Given the description of an element on the screen output the (x, y) to click on. 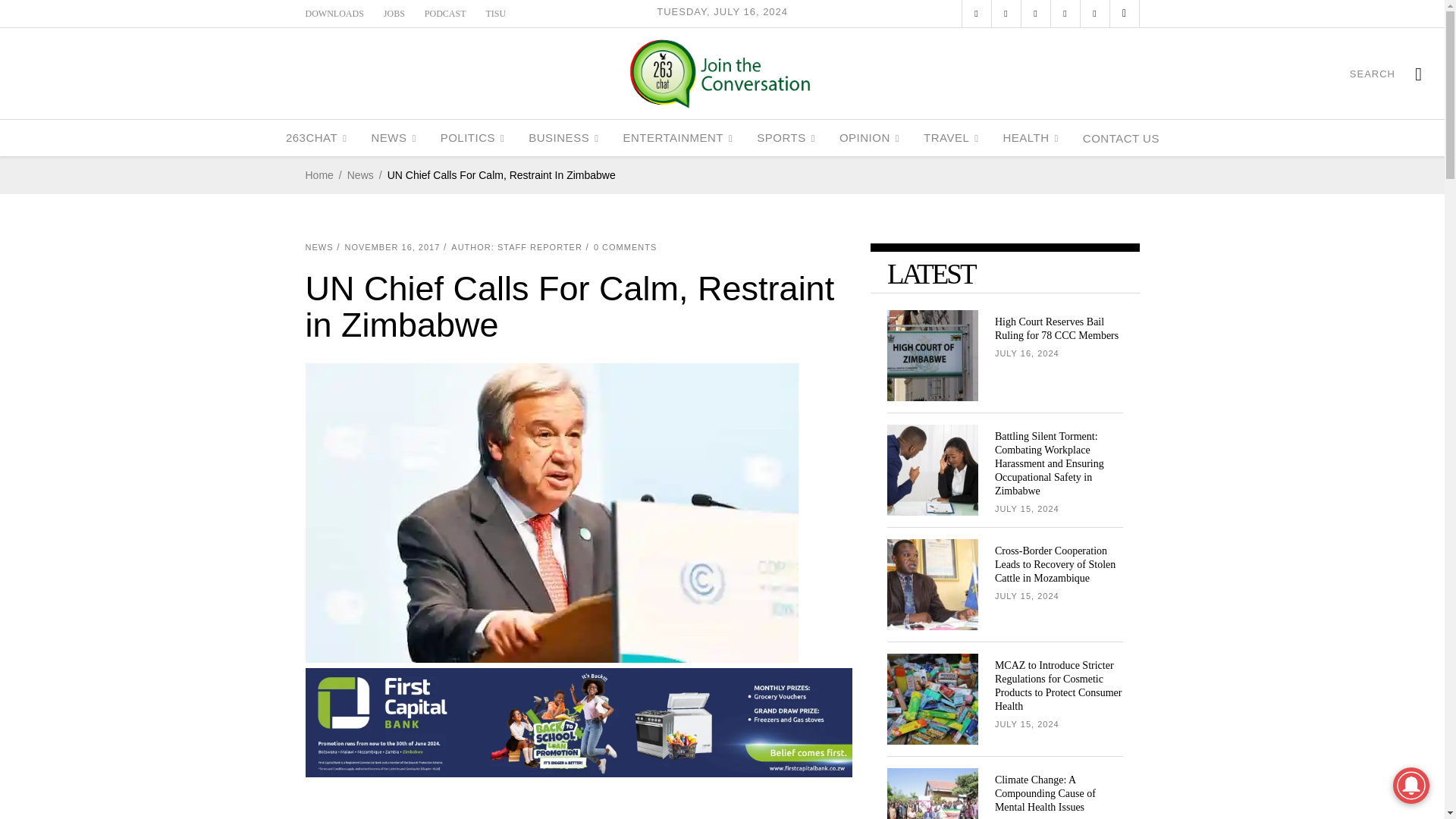
NEWS (393, 137)
DOWNLOADS (333, 13)
263CHAT (316, 137)
PODCAST (445, 13)
JOBS (394, 13)
TISU (496, 13)
POLITICS (472, 137)
